Given the description of an element on the screen output the (x, y) to click on. 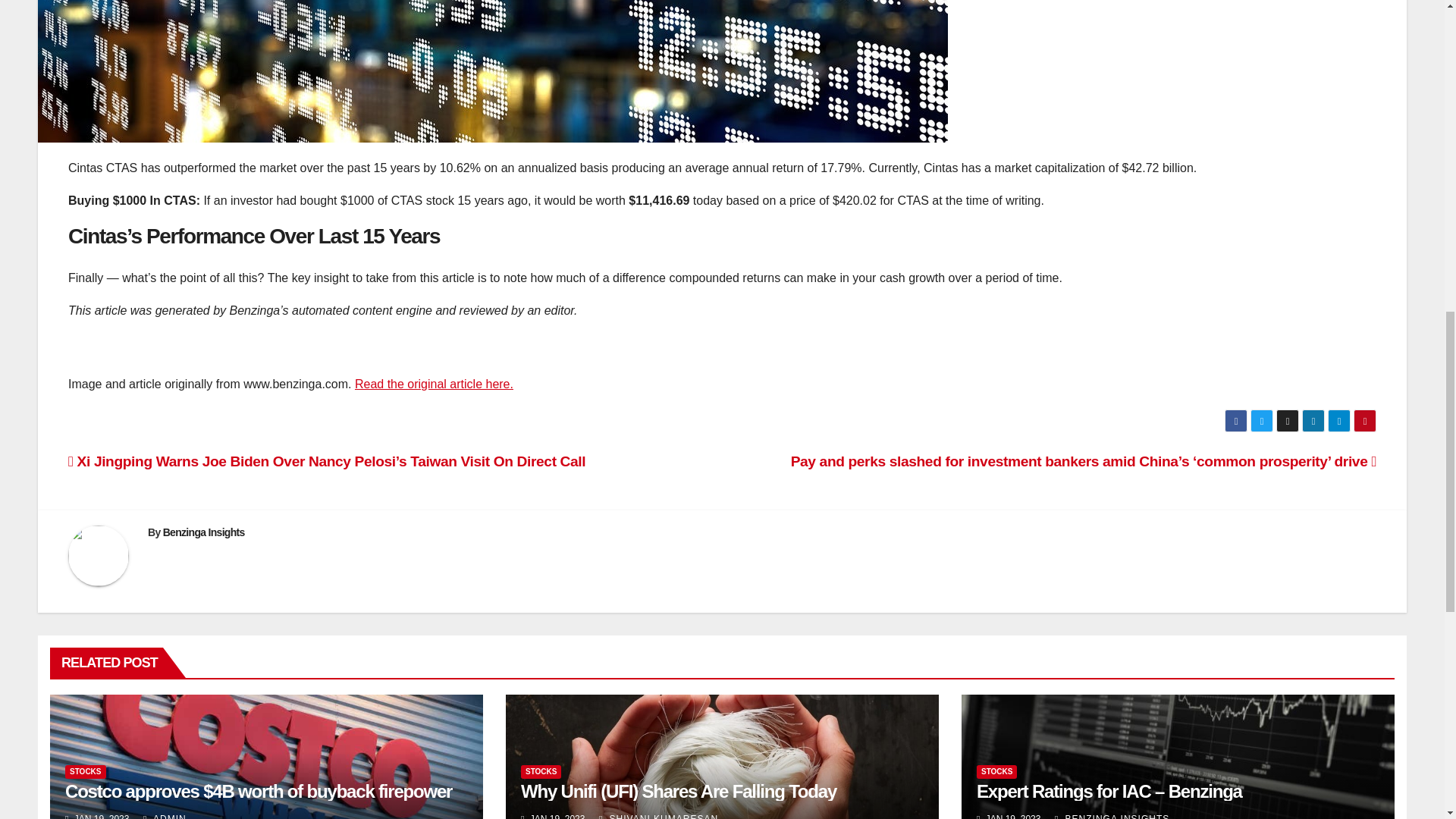
BENZINGA INSIGHTS (1111, 816)
Benzinga Insights (203, 532)
SHIVANI KUMARESAN (657, 816)
STOCKS (996, 771)
ADMIN (164, 816)
STOCKS (85, 771)
Read the original article here. (434, 383)
STOCKS (541, 771)
